Given the description of an element on the screen output the (x, y) to click on. 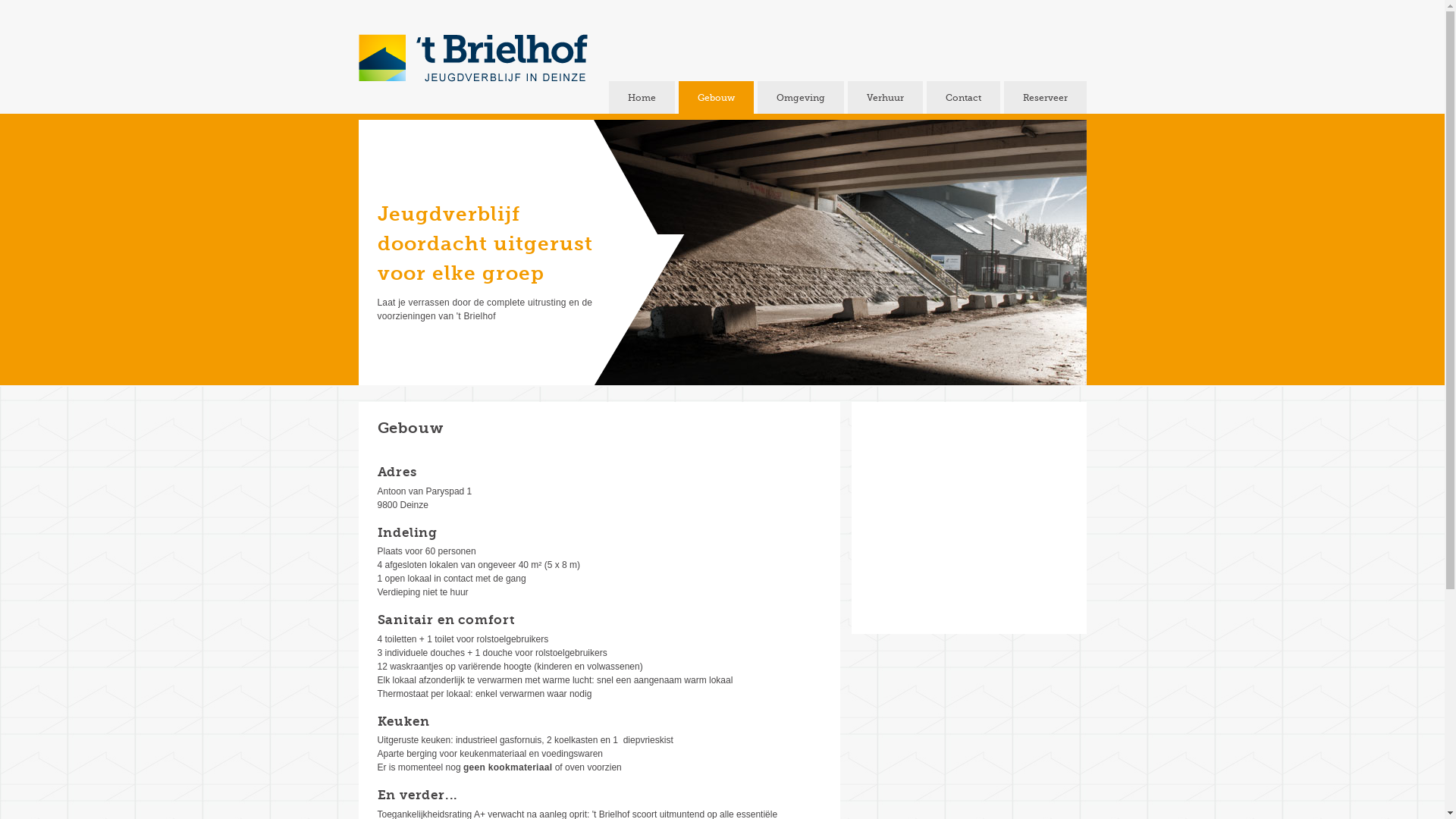
't Brielhof Element type: text (471, 59)
Gebouw Element type: text (715, 97)
Reserveer Element type: text (1045, 97)
Home Element type: text (641, 97)
Verhuur Element type: text (884, 97)
Contact Element type: text (963, 97)
Omgeving Element type: text (799, 97)
